Given the description of an element on the screen output the (x, y) to click on. 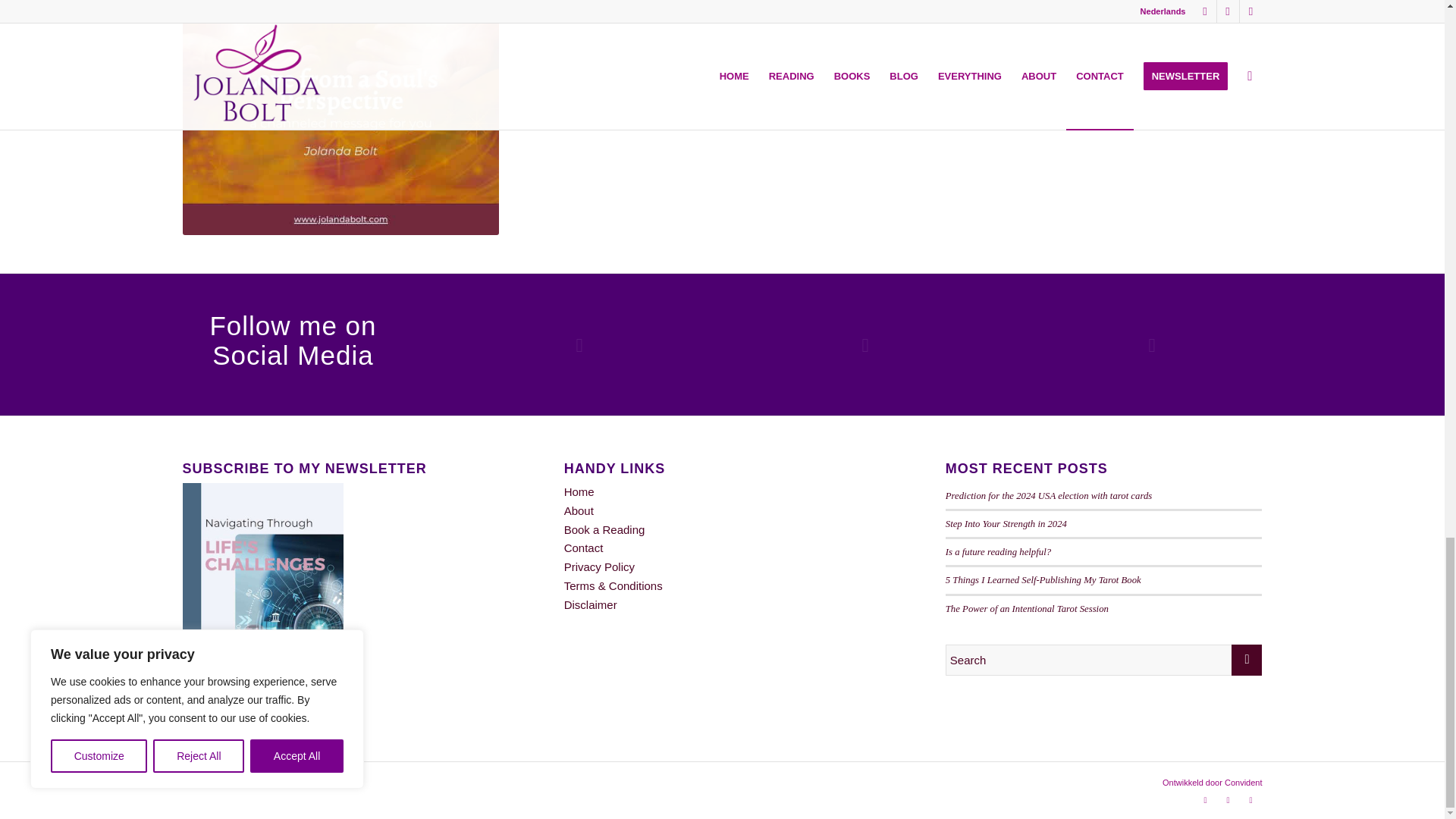
Book a Reading (604, 529)
Facebook (1227, 799)
Contact (584, 547)
Pinterest (1250, 799)
Ebook - Love from a soul's perspective, medium (340, 117)
About (579, 510)
Instagram (1204, 799)
Home (579, 491)
